Given the description of an element on the screen output the (x, y) to click on. 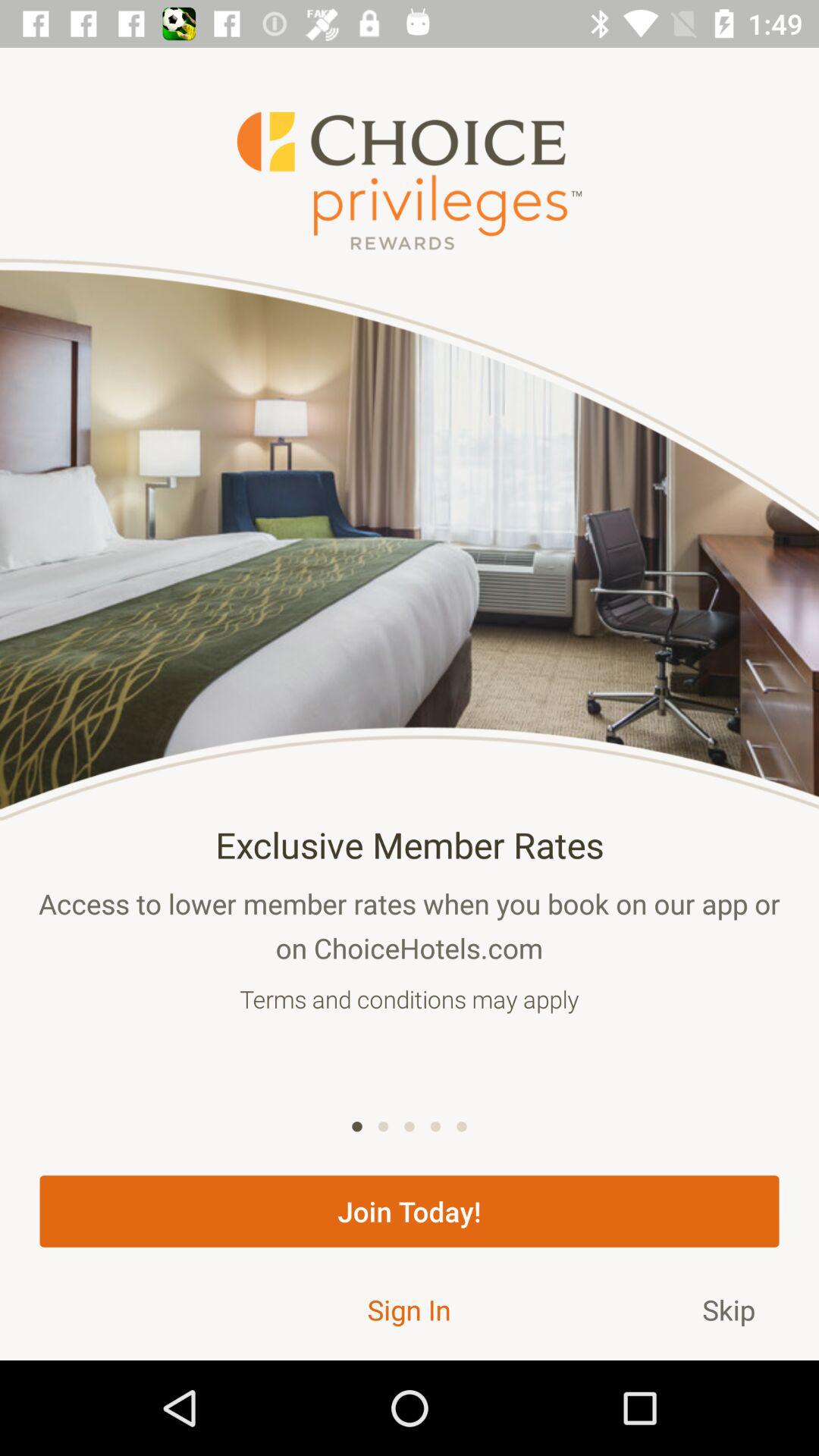
select join today! item (409, 1211)
